Given the description of an element on the screen output the (x, y) to click on. 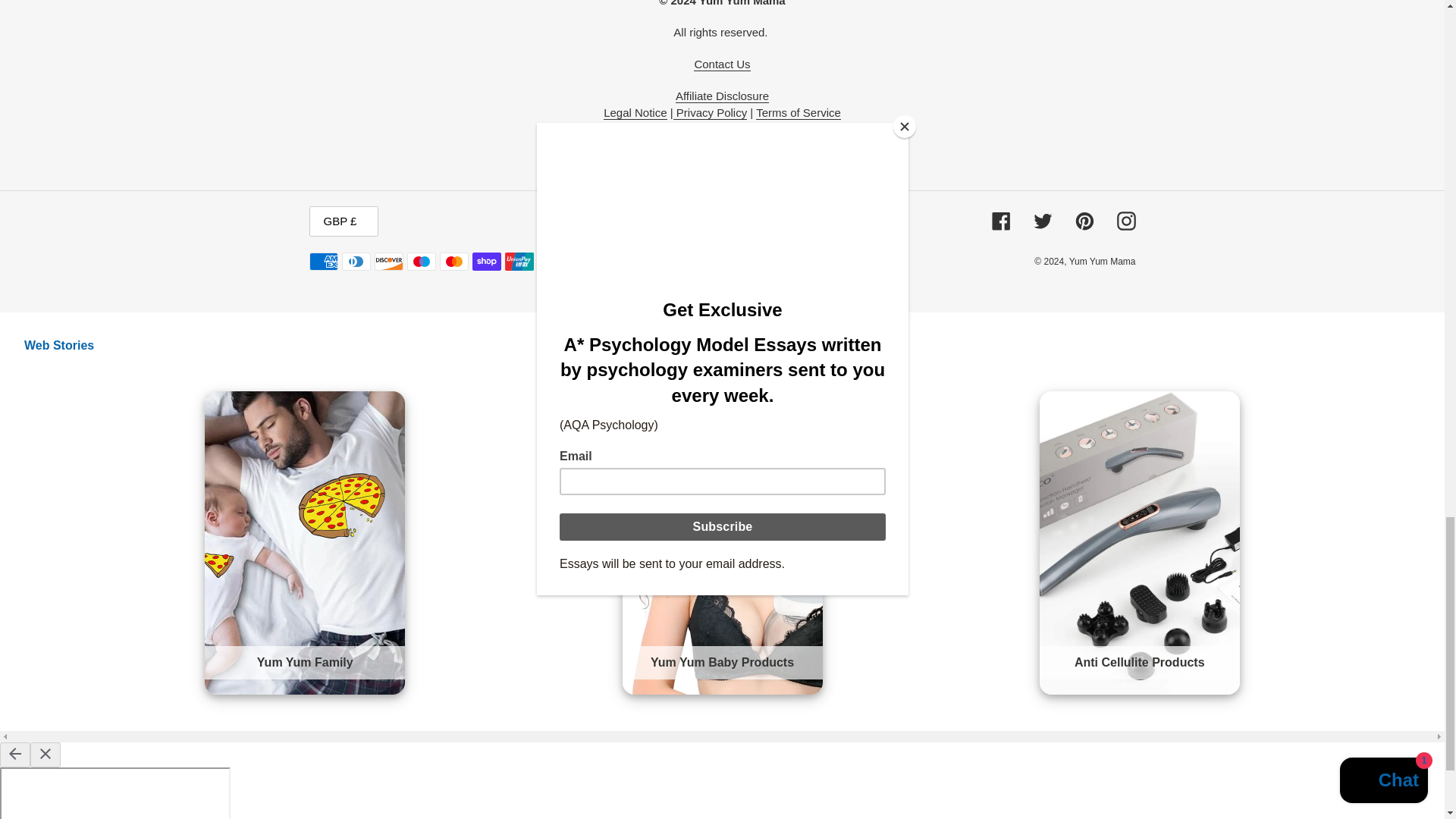
Privacy Policy (710, 112)
Legal Notice (635, 112)
Terms of Service (798, 112)
